Given the description of an element on the screen output the (x, y) to click on. 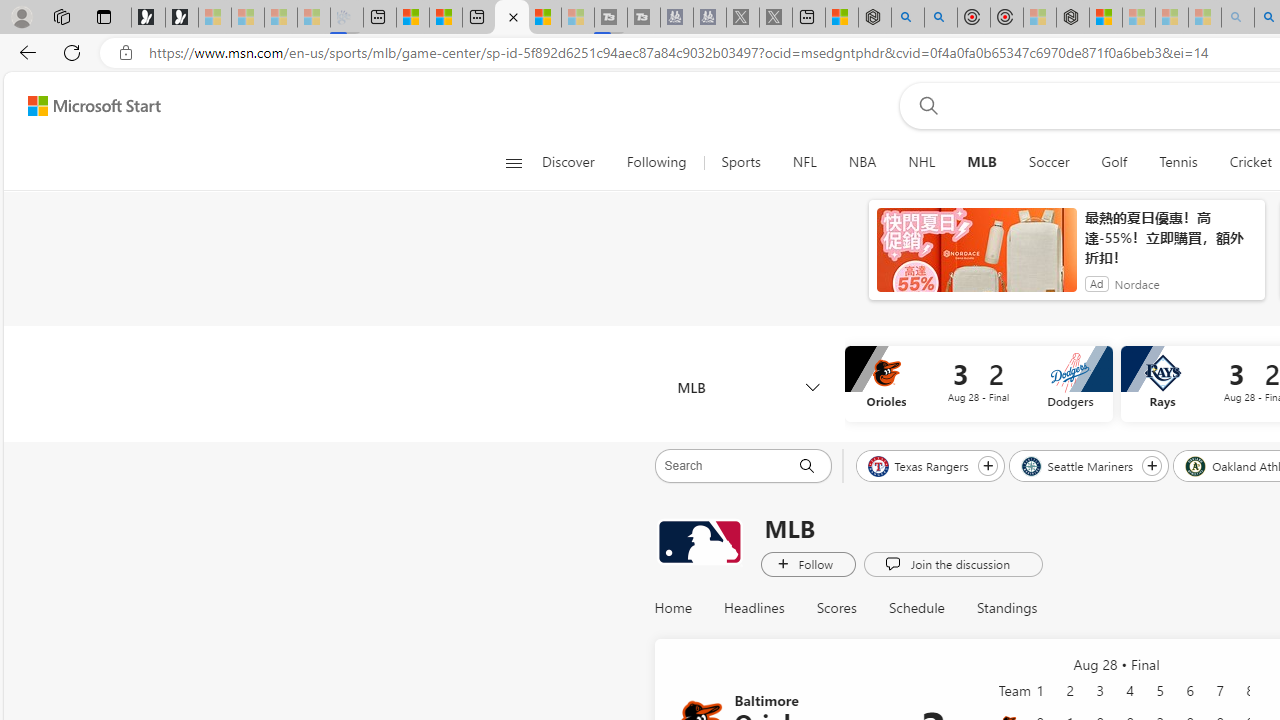
NBA (862, 162)
Ad (1096, 283)
Home (673, 607)
Golf (1113, 162)
Texas Rangers (920, 465)
Nordace - Nordace Siena Is Not An Ordinary Backpack (1073, 17)
amazon - Search - Sleeping (1238, 17)
Follow Seattle Mariners (1152, 465)
Soccer (1048, 162)
Nordace - Summer Adventures 2024 (874, 17)
Tennis (1178, 162)
NFL (804, 162)
poe ++ standard - Search (941, 17)
